Given the description of an element on the screen output the (x, y) to click on. 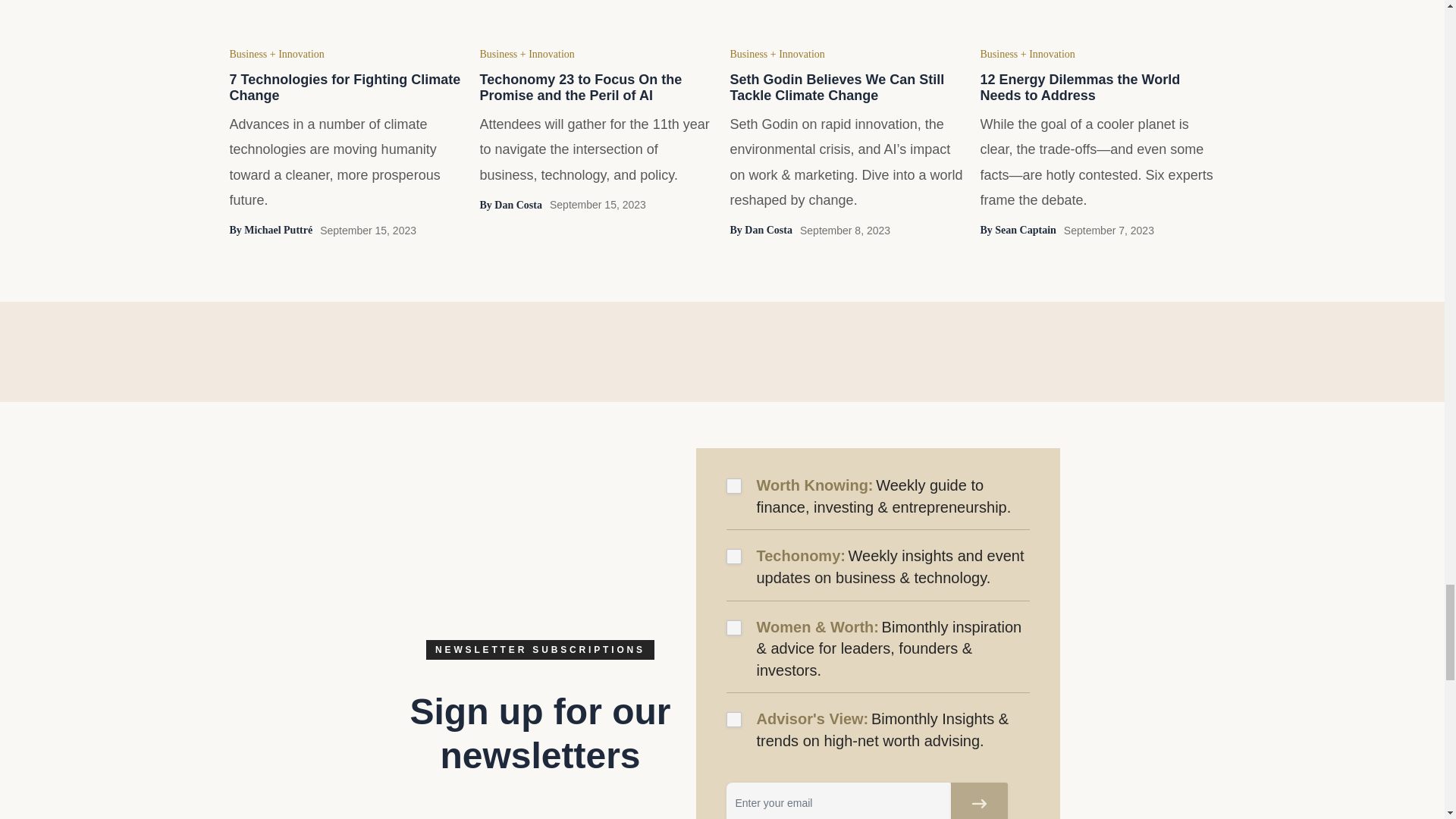
yes (733, 719)
yes (733, 556)
yes (733, 627)
yes (733, 485)
